Given the description of an element on the screen output the (x, y) to click on. 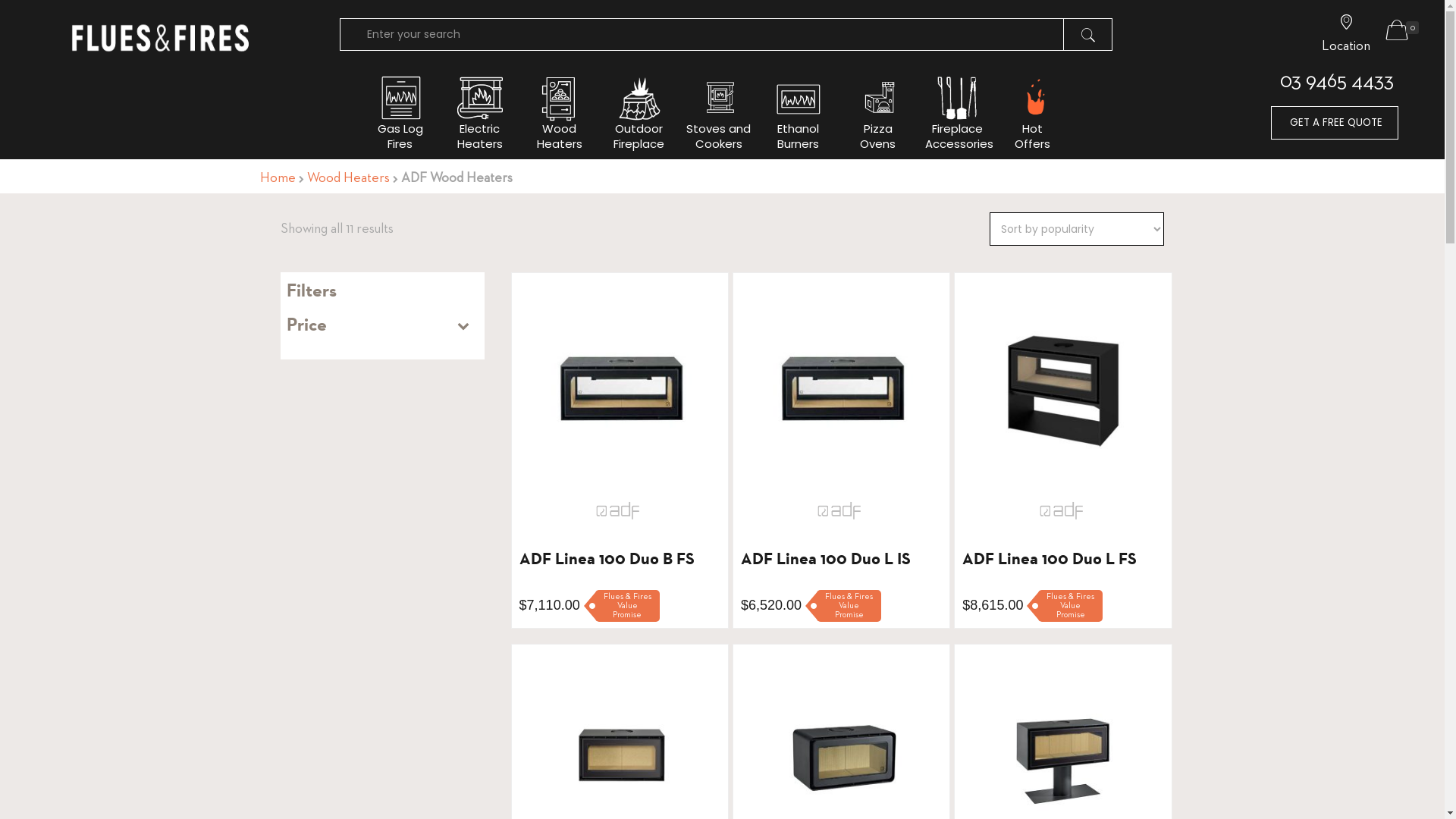
Hot Offers Element type: text (1036, 113)
Home Element type: text (276, 178)
03 9465 4433 Element type: text (1336, 81)
ADF Wood Heaters Element type: hover (617, 511)
Electric Heaters Element type: text (479, 113)
ADF Linea 100 Duo L IS Element type: hover (619, 388)
Ethanol Burners Element type: text (797, 113)
0 Element type: text (1402, 33)
ADF Linea 100 Duo L FS Element type: hover (1062, 388)
ADF Wood Heaters Element type: hover (1060, 511)
Wood Heaters Element type: text (347, 178)
Flues and Fires Element type: hover (160, 49)
ADF Linea 100 Duo L IS
$6,520.00
Flues & Fires
Value
Promise Element type: text (840, 569)
ADF Linea 100 Duo L IS Element type: hover (840, 388)
ADF Linea 100 Duo B FS
$7,110.00
Flues & Fires
Value
Promise Element type: text (619, 569)
 GET A FREE QUOTE Element type: text (1336, 128)
Stoves and Cookers Element type: text (718, 113)
Outdoor Fireplace Element type: text (638, 113)
ADF Wood Heaters Element type: hover (839, 511)
Pizza Ovens Element type: text (877, 113)
 GET A FREE QUOTE Element type: text (1334, 122)
Fireplace Accessories Element type: text (957, 113)
Location Element type: text (1345, 34)
Wood Heaters Element type: text (559, 113)
ADF Linea 100 Duo L FS
$8,615.00
Flues & Fires
Value
Promise Element type: text (1062, 569)
Gas Log Fires Element type: text (399, 113)
